Given the description of an element on the screen output the (x, y) to click on. 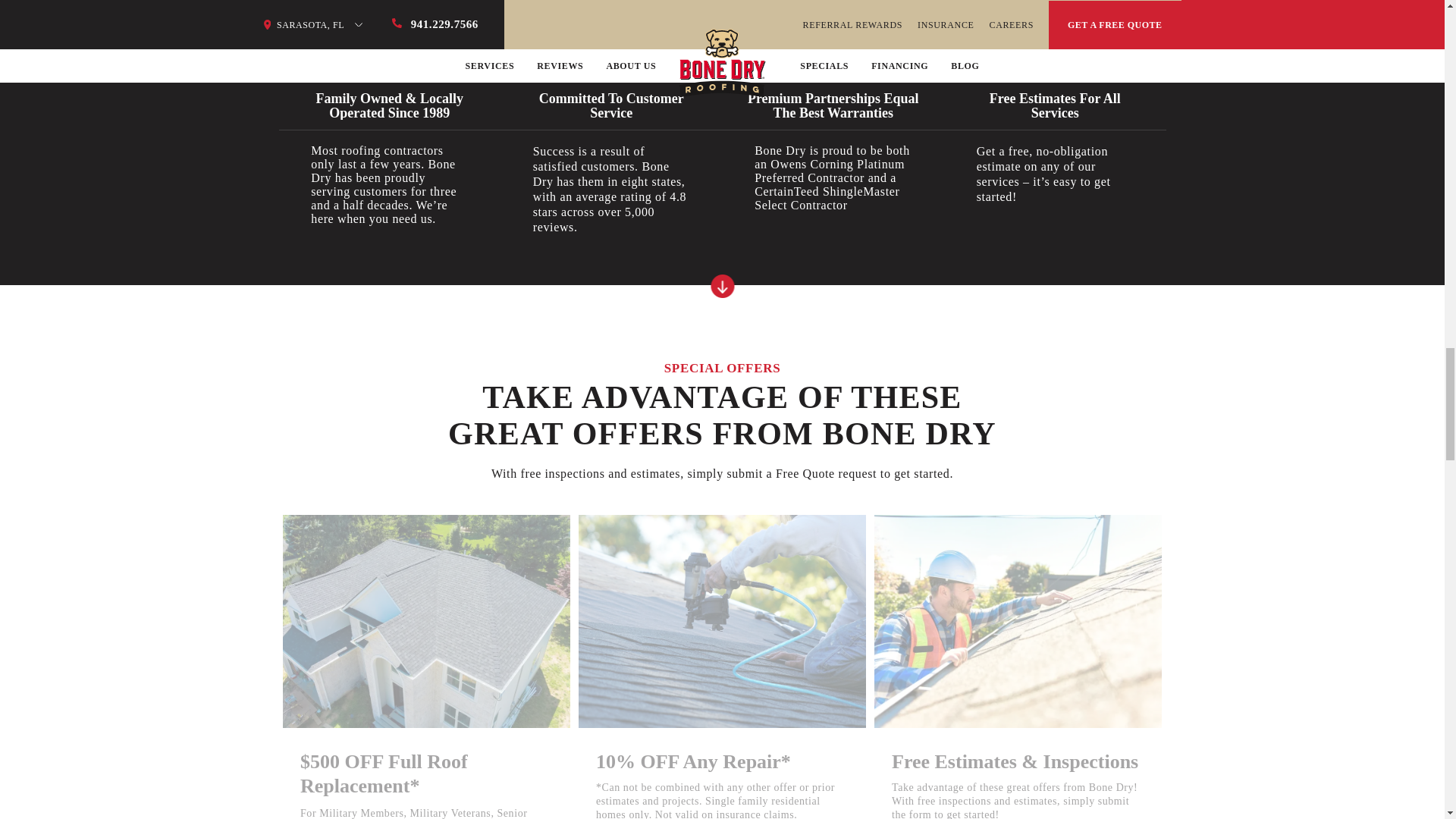
bottom-arrow (721, 286)
